Given the description of an element on the screen output the (x, y) to click on. 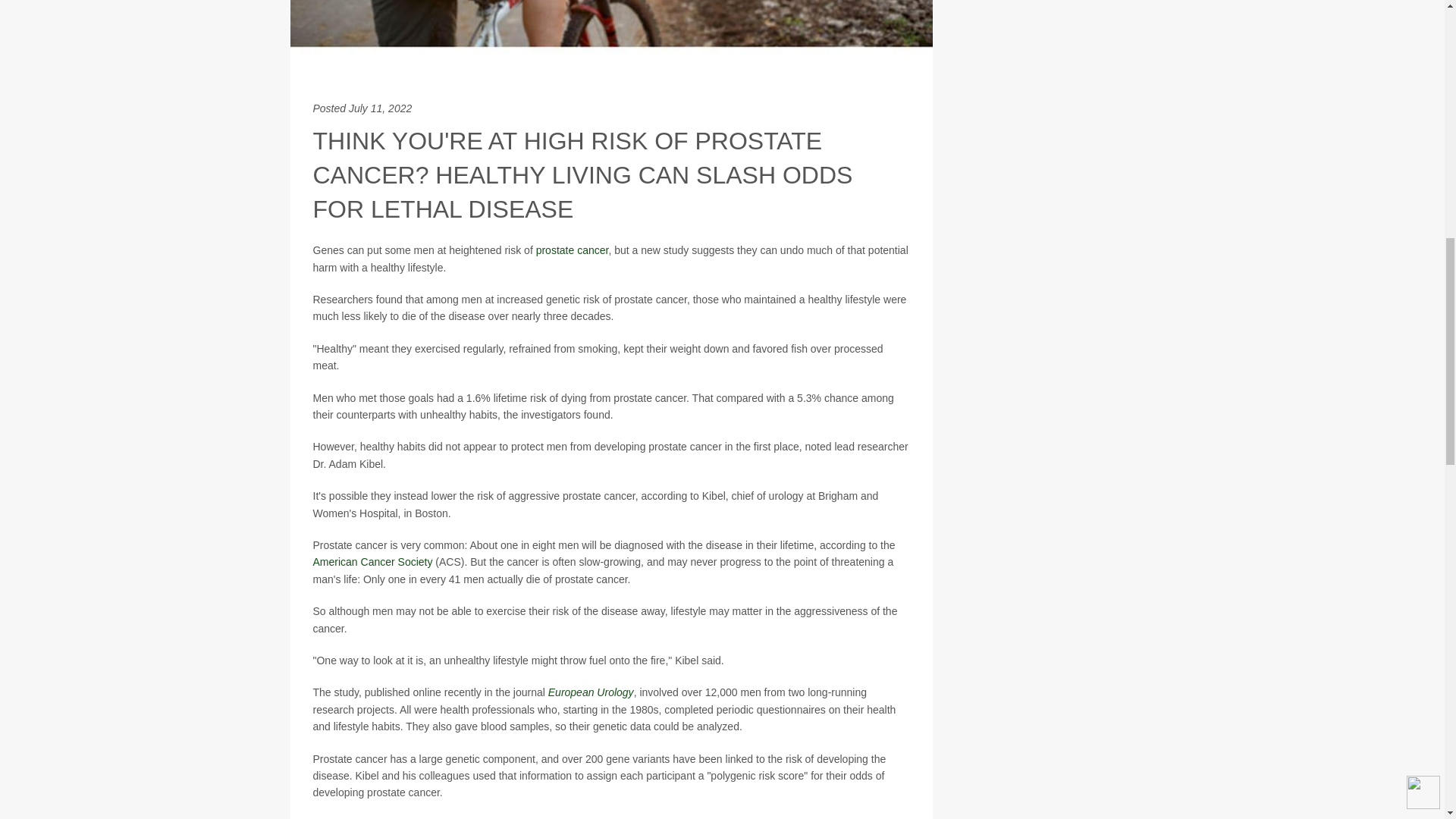
American Cancer Society (372, 562)
European Urology (590, 692)
prostate cancer (571, 250)
